Given the description of an element on the screen output the (x, y) to click on. 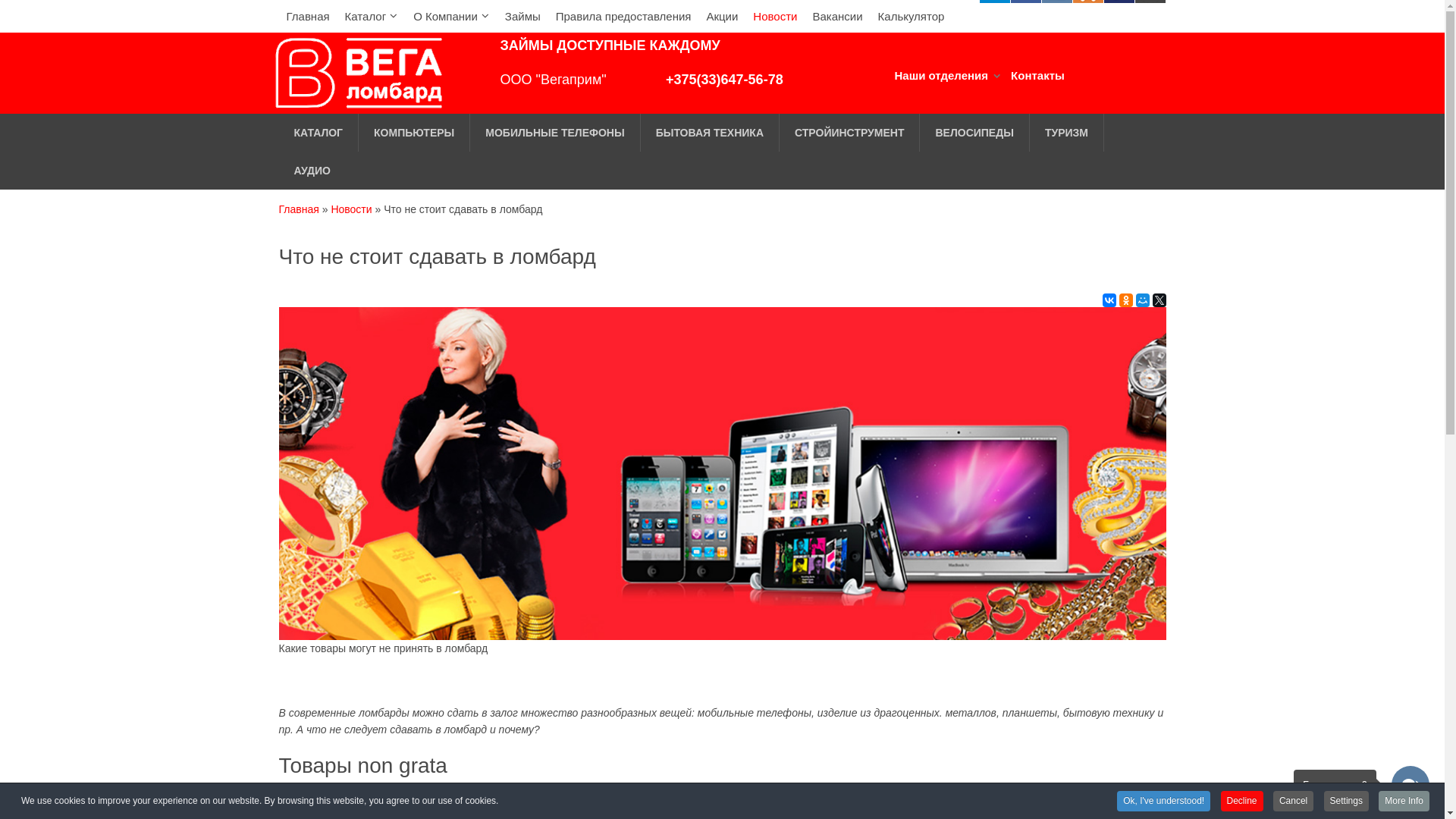
Twitter Element type: hover (1159, 300)
Decline Element type: text (1241, 800)
More Info Element type: text (1403, 800)
Cancel Element type: text (1293, 800)
+375(33)647-56-78 Element type: text (724, 79)
" Element type: text (634, 79)
Settings Element type: text (1346, 800)
Ok, I've understood! Element type: text (1163, 800)
